Given the description of an element on the screen output the (x, y) to click on. 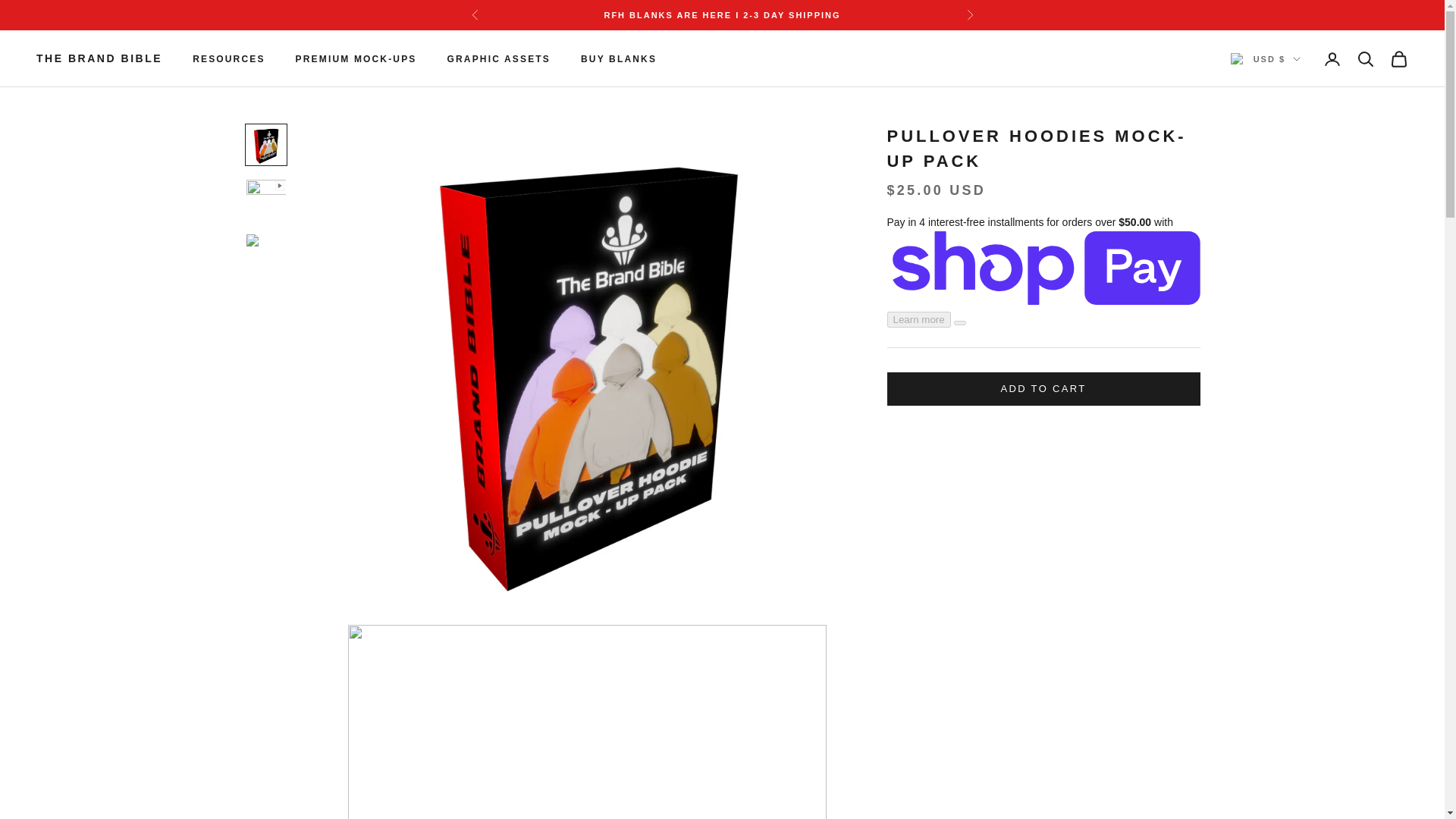
RESOURCES (228, 58)
THE BRAND BIBLE (98, 58)
Open account page (1331, 58)
BUY BLANKS (618, 58)
GRAPHIC ASSETS (498, 58)
PREMIUM MOCK-UPS (355, 58)
Open search (1365, 58)
